Given the description of an element on the screen output the (x, y) to click on. 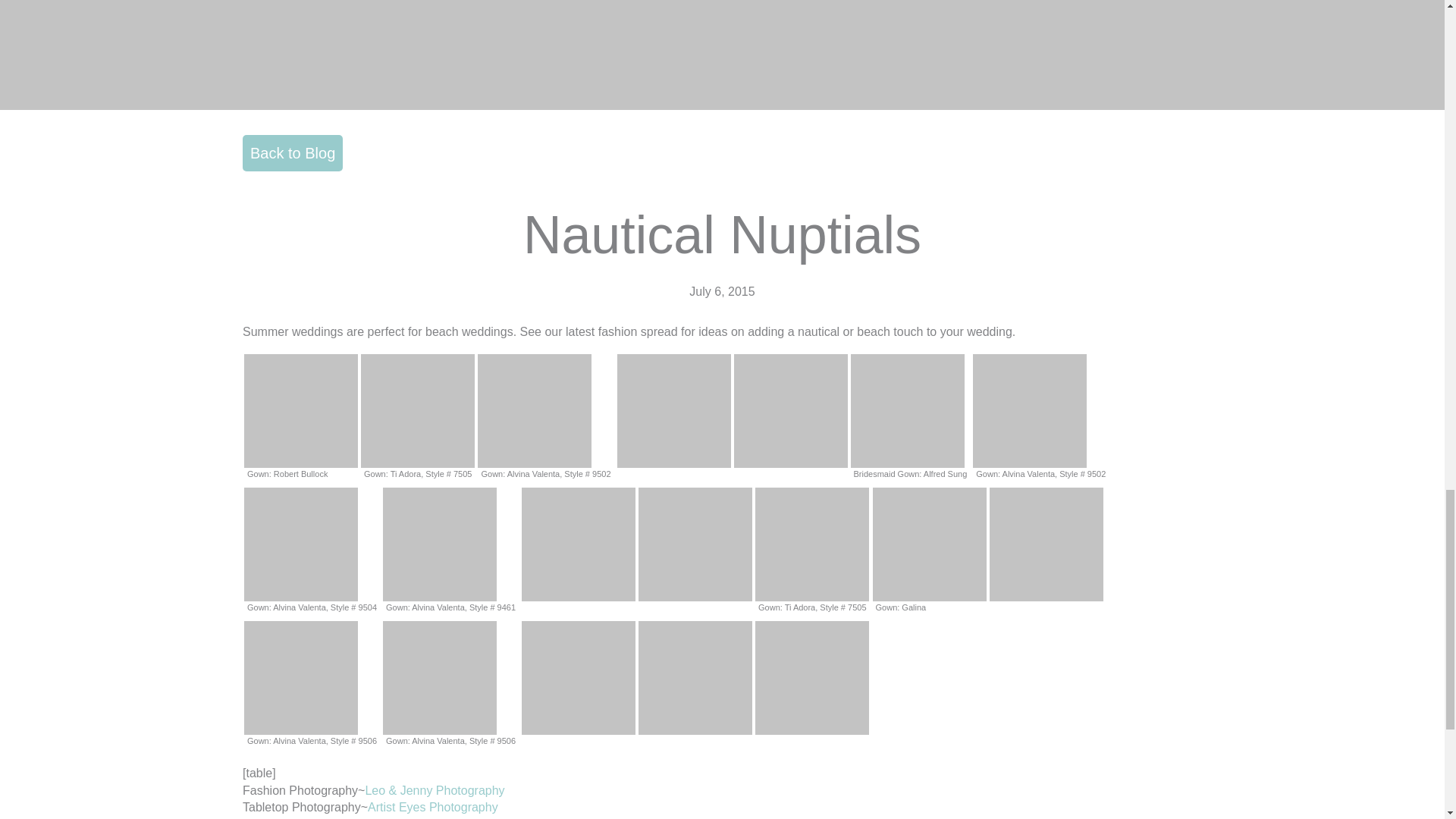
Back to Blog (292, 153)
Farm Boy (381, 818)
Artist Eyes Photography (432, 807)
